Given the description of an element on the screen output the (x, y) to click on. 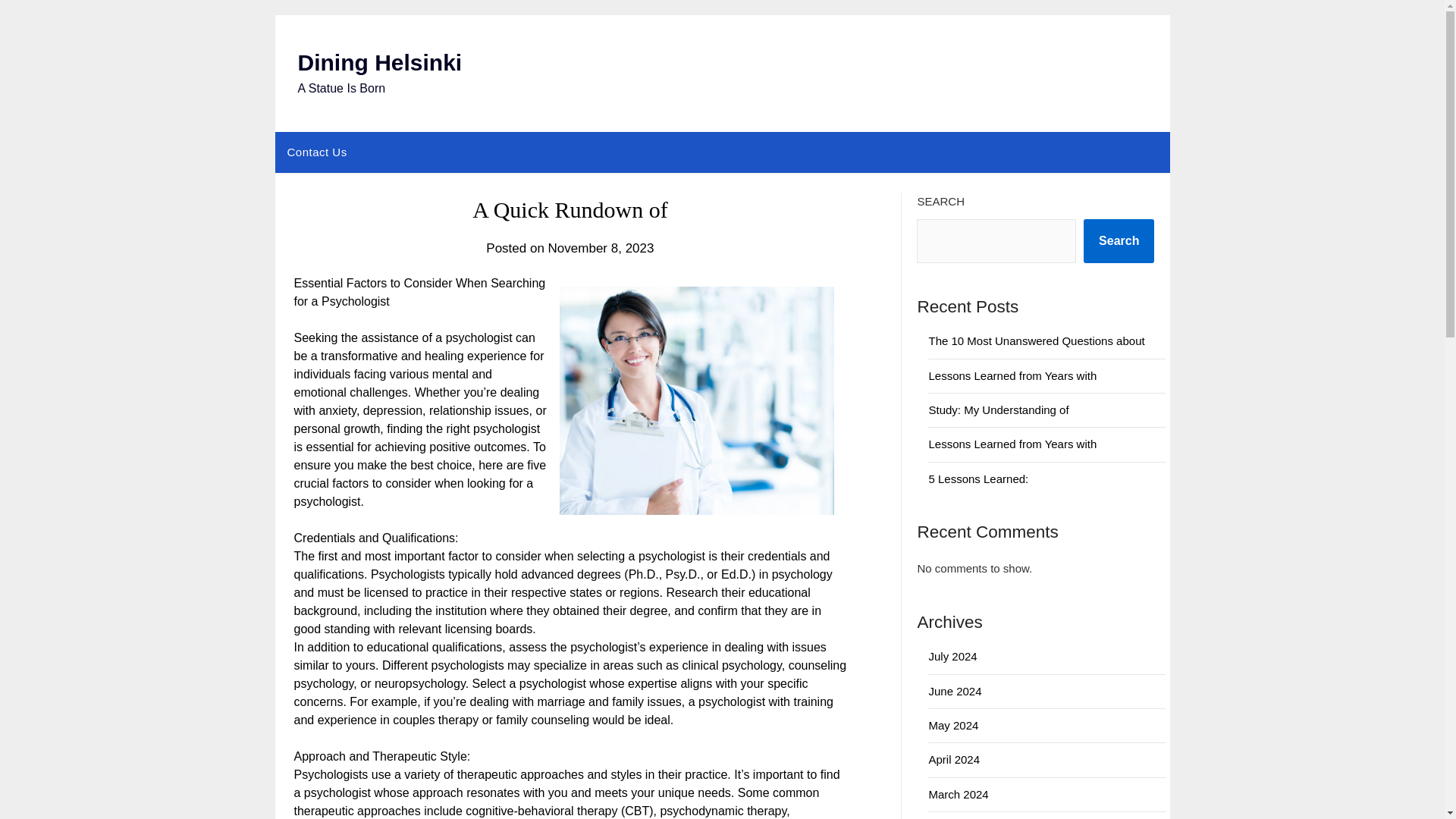
March 2024 (958, 793)
April 2024 (953, 758)
The 10 Most Unanswered Questions about (1036, 340)
Study: My Understanding of (998, 409)
May 2024 (953, 725)
Dining Helsinki (379, 62)
June 2024 (954, 690)
Lessons Learned from Years with (1012, 375)
5 Lessons Learned: (977, 478)
July 2024 (952, 656)
Lessons Learned from Years with (1012, 443)
Contact Us (316, 151)
Search (1118, 240)
